Given the description of an element on the screen output the (x, y) to click on. 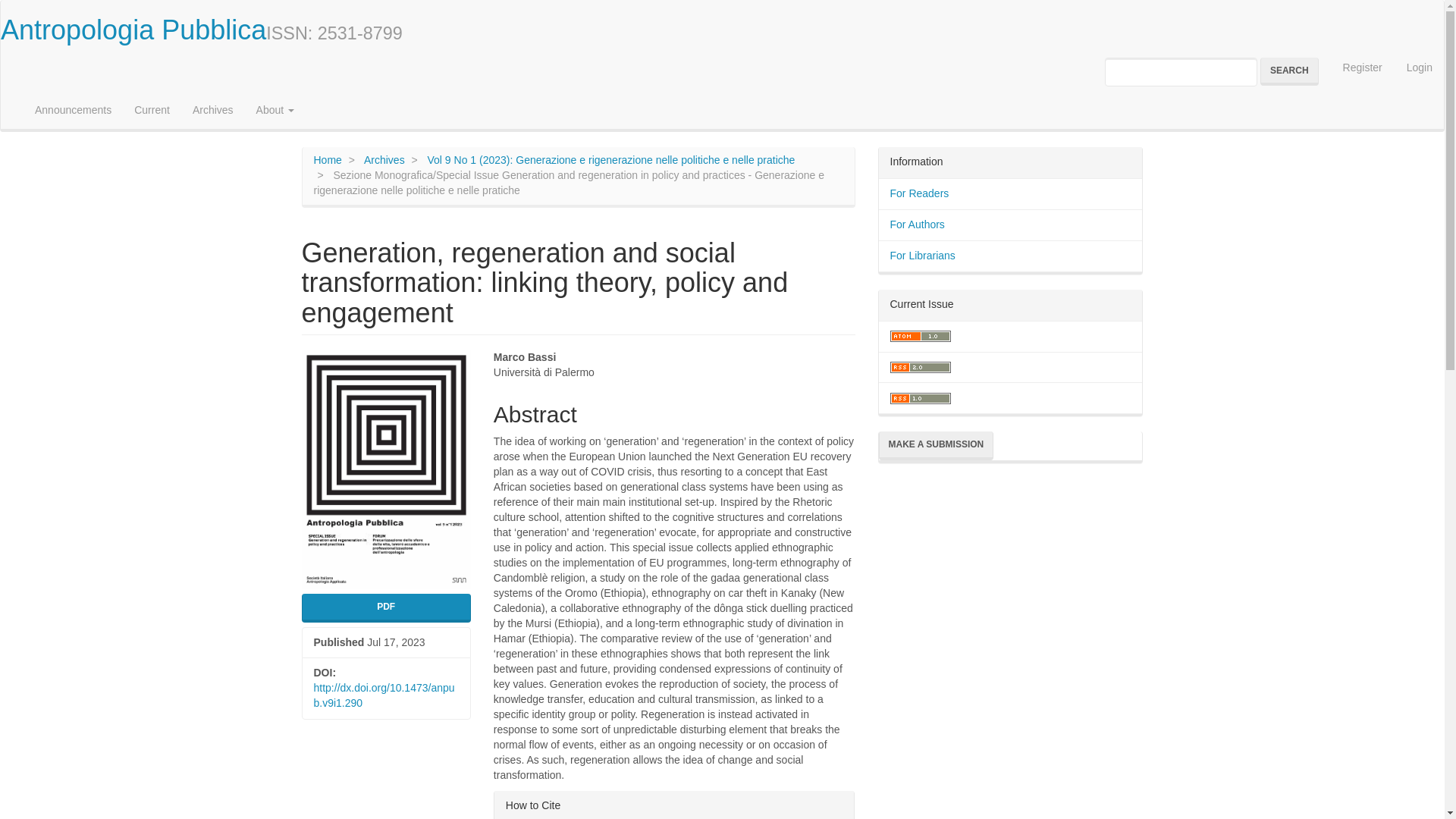
Antropologia Pubblica (133, 30)
Archives (384, 159)
Announcements (72, 109)
About (274, 109)
PDF (385, 607)
Login (1419, 68)
SEARCH (1289, 71)
Archives (212, 109)
Register (1362, 68)
Current (151, 109)
Home (328, 159)
For Readers (919, 193)
